Given the description of an element on the screen output the (x, y) to click on. 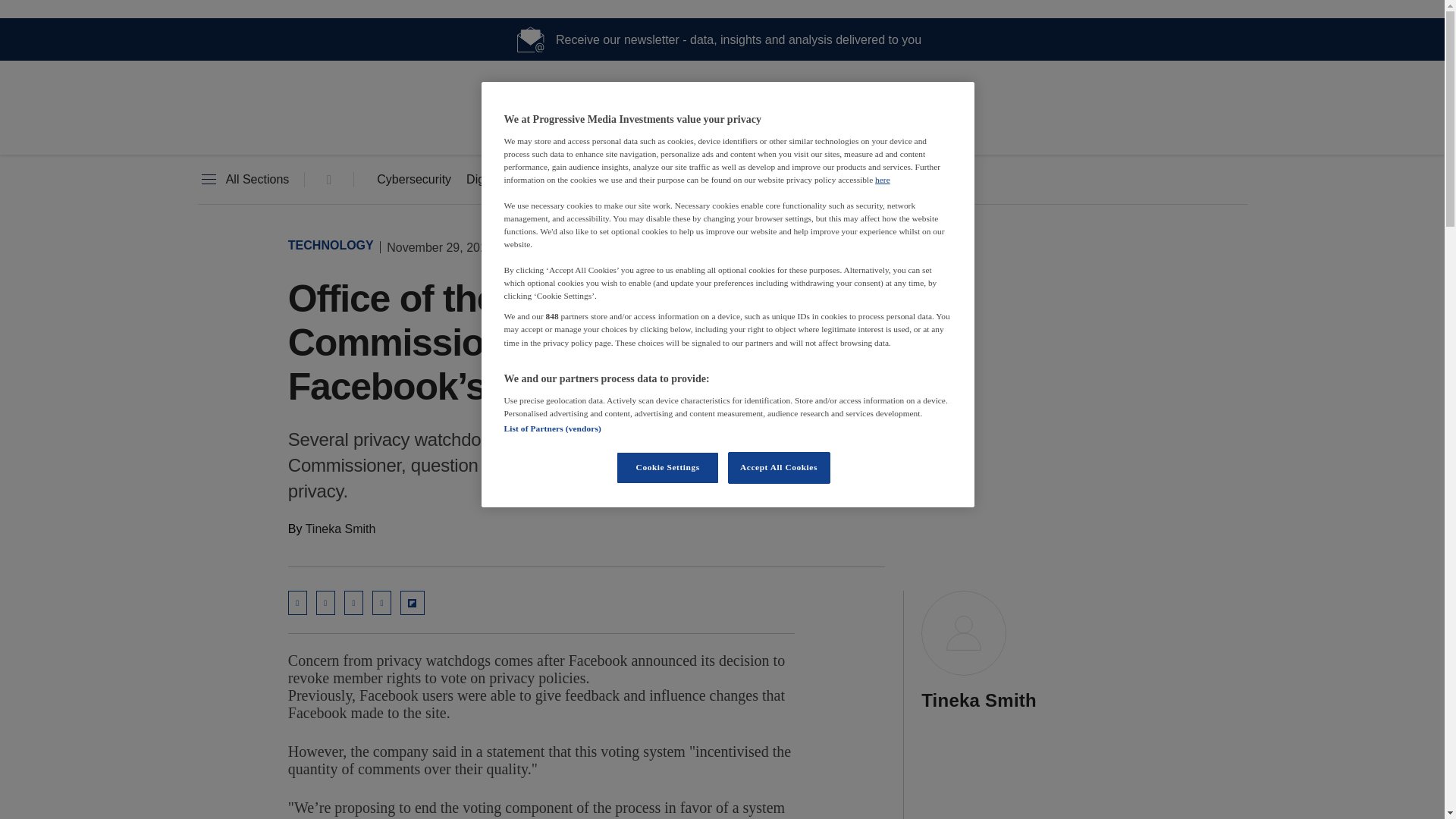
Leadership (701, 179)
Tech Monitor (722, 128)
Share on Flipboard (412, 602)
All Sections (242, 179)
Cybersecurity (414, 179)
Events (783, 179)
Hardware (612, 179)
Digital economy (509, 179)
